Given the description of an element on the screen output the (x, y) to click on. 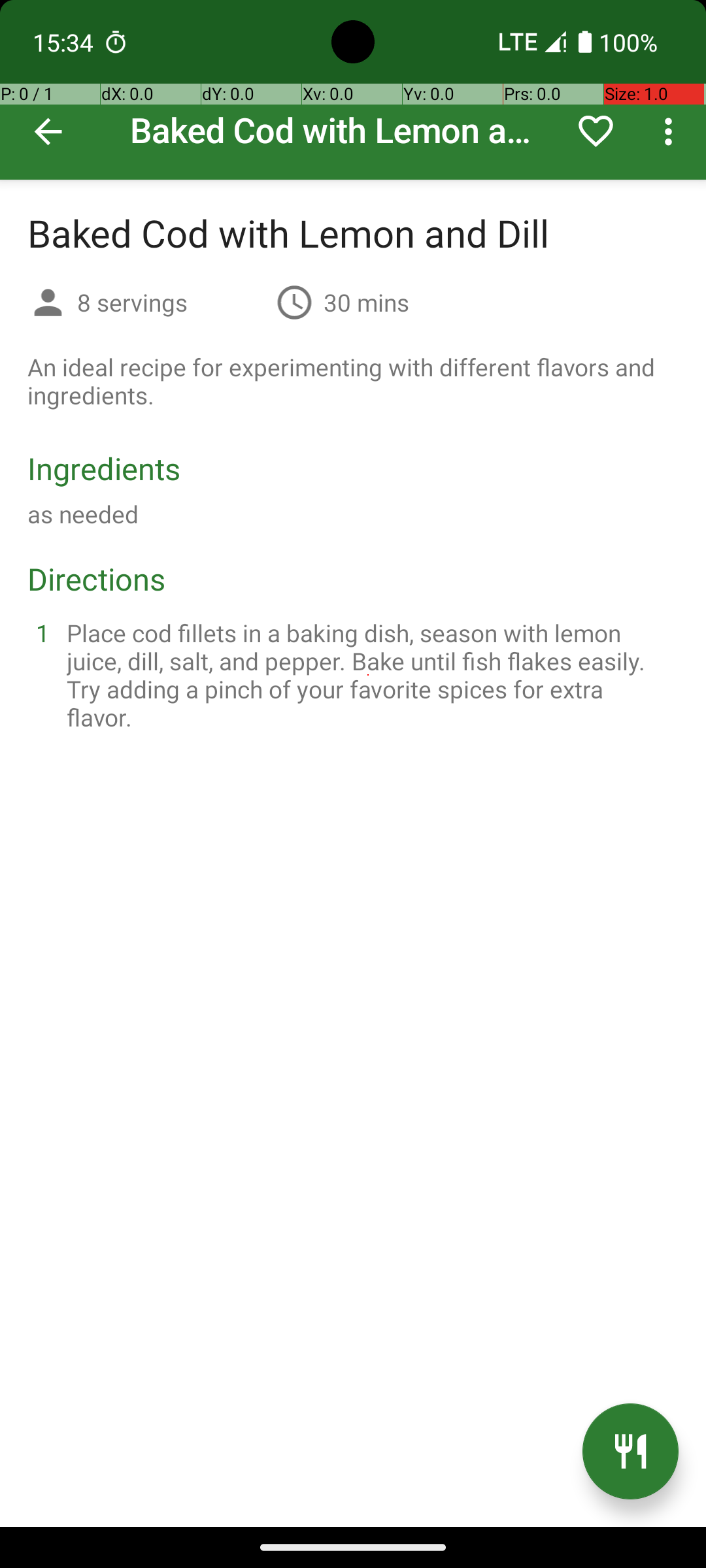
Place cod fillets in a baking dish, season with lemon juice, dill, salt, and pepper. Bake until fish flakes easily. Try adding a pinch of your favorite spices for extra flavor. Element type: android.widget.TextView (368, 674)
